Given the description of an element on the screen output the (x, y) to click on. 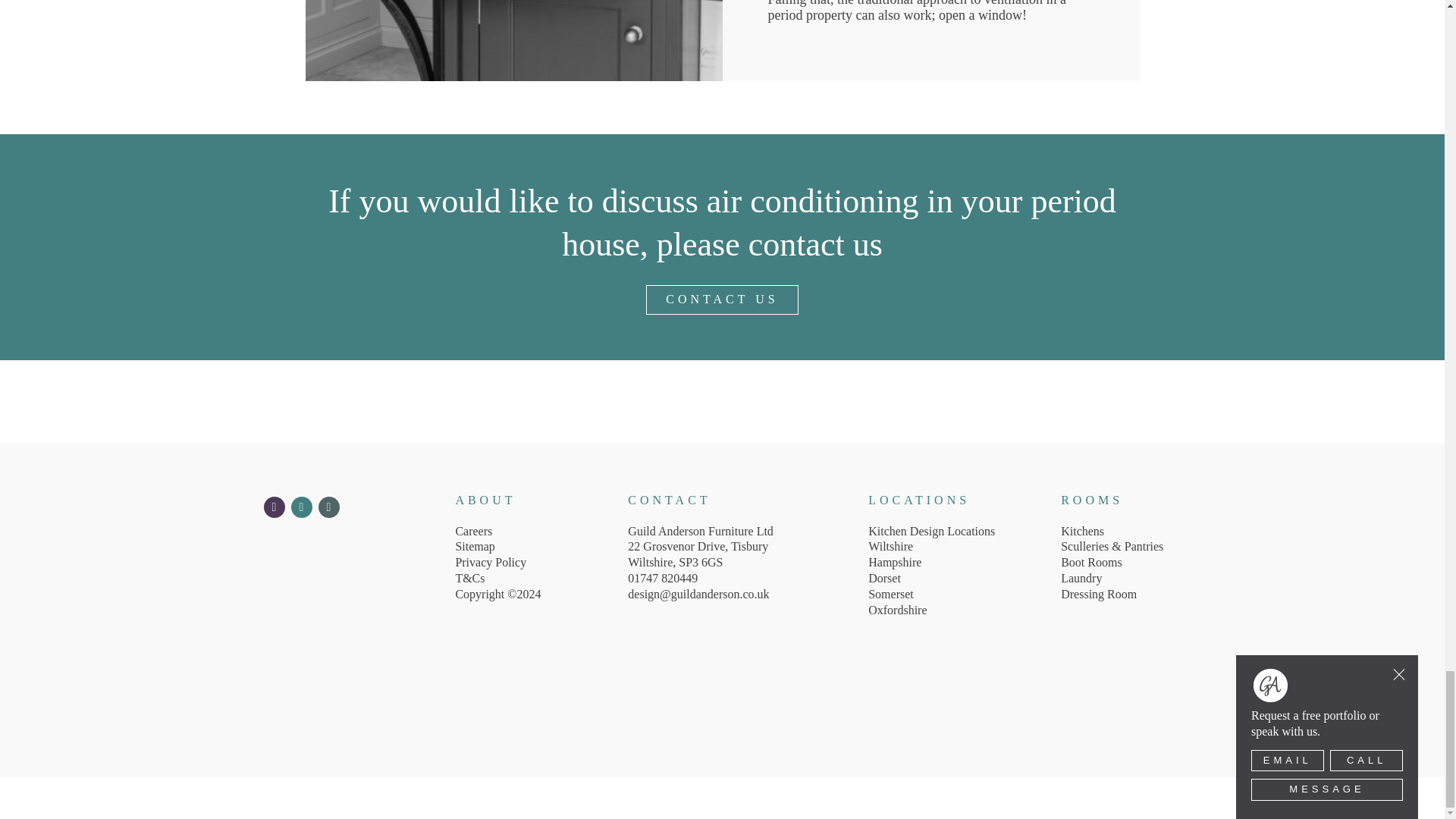
01747 820449 (743, 578)
Privacy Policy (489, 562)
Guild Anderson :: Furniture Makers (722, 434)
Dorset (884, 577)
Kitchens (1082, 530)
Wiltshire (889, 545)
Hampshire (894, 562)
CONTACT US (721, 299)
We're in the House Directory (661, 658)
Careers (473, 530)
Oxfordshire (896, 609)
Somerset (890, 594)
Kitchen Design Locations (930, 530)
The Furniture Ombudsman - Full Member (518, 694)
Boot Rooms (1091, 562)
